Given the description of an element on the screen output the (x, y) to click on. 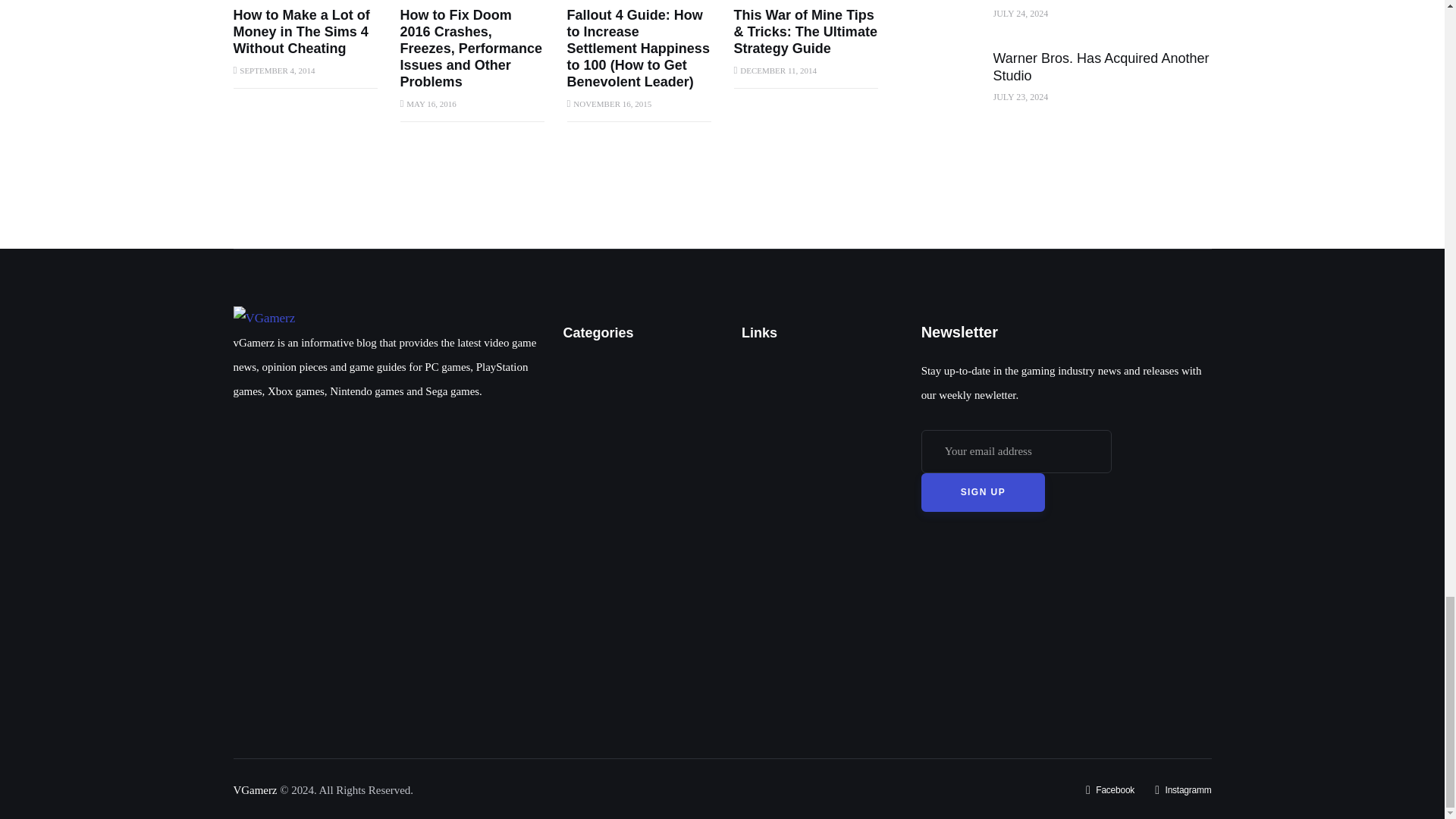
Sign up (983, 492)
